Given the description of an element on the screen output the (x, y) to click on. 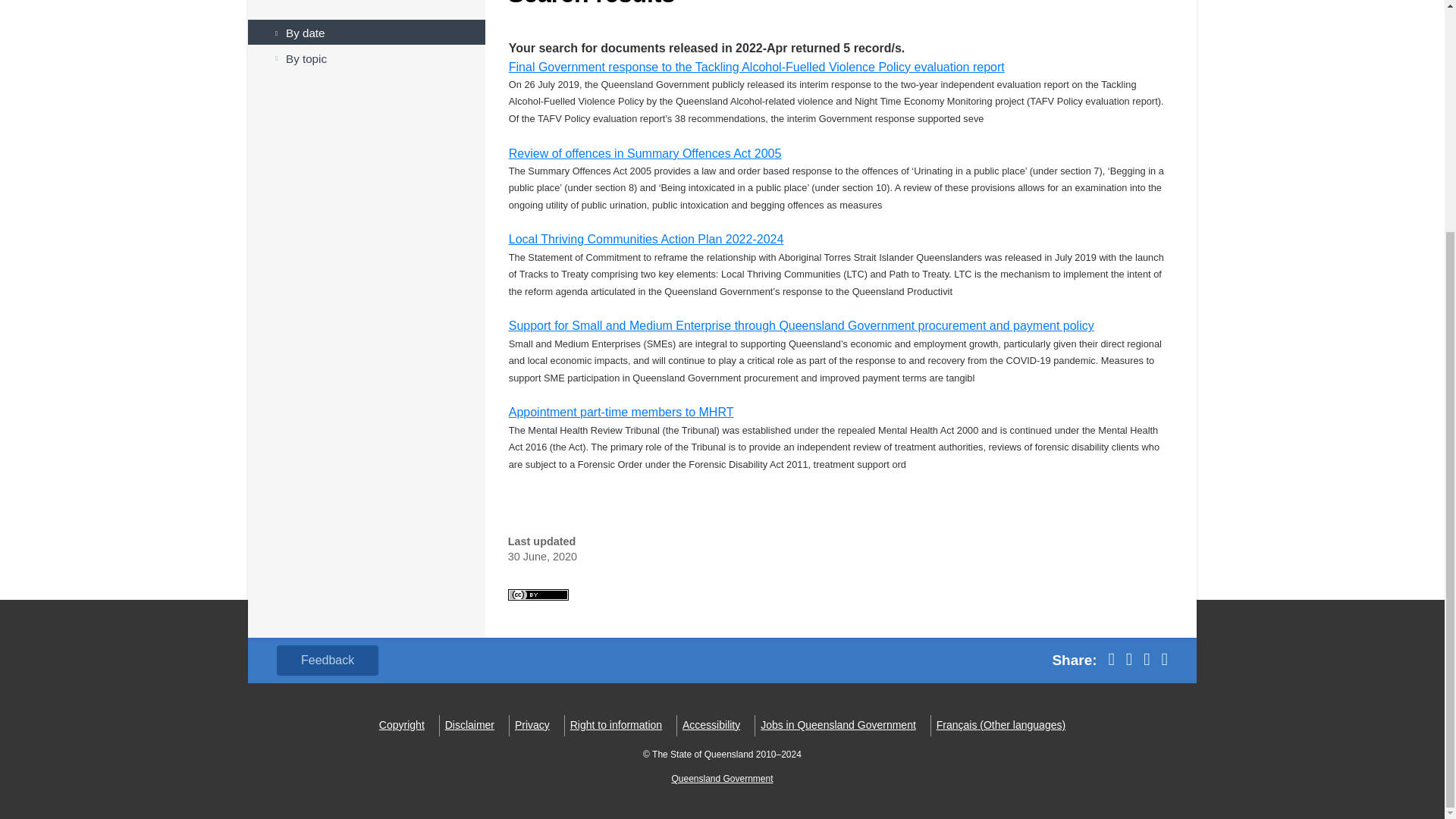
Disclaimer (470, 725)
Feedback (327, 660)
Right to information (616, 725)
Review of offences in Summary Offences Act 2005 (644, 152)
By topic (365, 57)
Jobs in Queensland Government (837, 725)
Accessibility (710, 725)
Queensland Government (722, 778)
Copyright (401, 725)
Appointment part-time members to MHRT (620, 411)
Privacy (532, 725)
By date (365, 32)
